Given the description of an element on the screen output the (x, y) to click on. 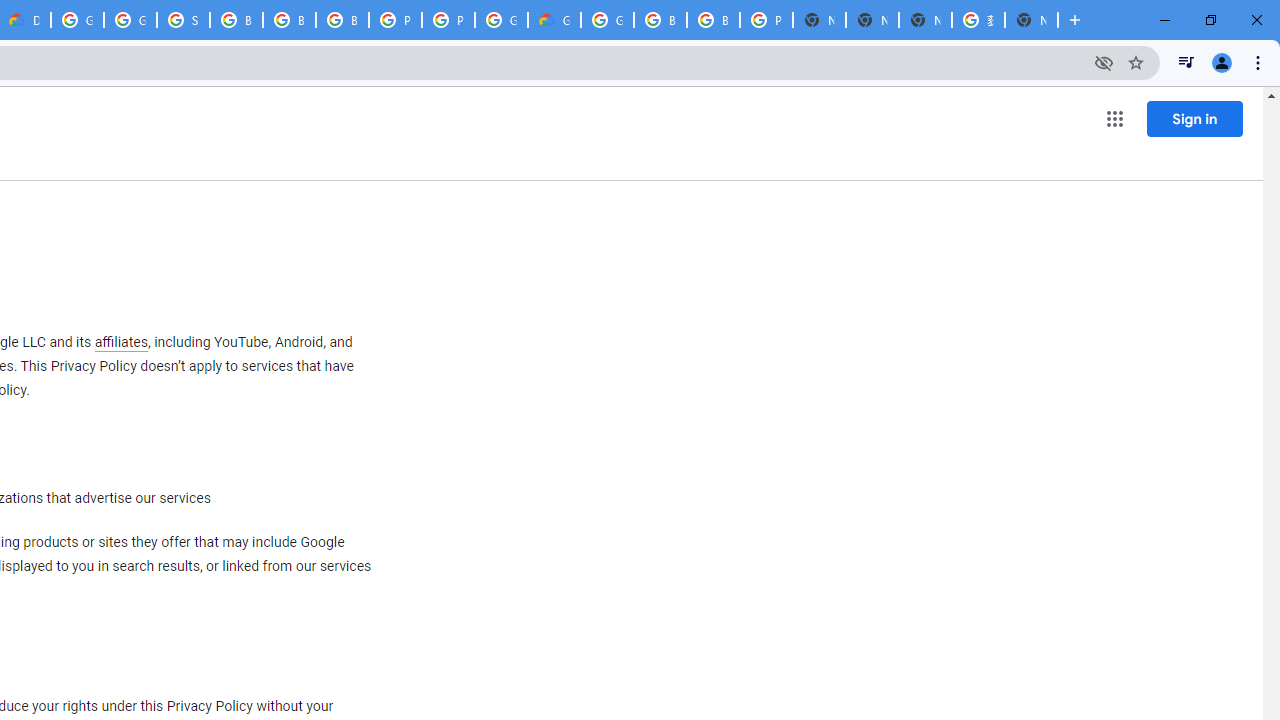
affiliates (120, 342)
Browse Chrome as a guest - Computer - Google Chrome Help (713, 20)
Browse Chrome as a guest - Computer - Google Chrome Help (660, 20)
Sign in - Google Accounts (183, 20)
New Tab (819, 20)
Google Cloud Platform (607, 20)
Google Cloud Estimate Summary (554, 20)
